Given the description of an element on the screen output the (x, y) to click on. 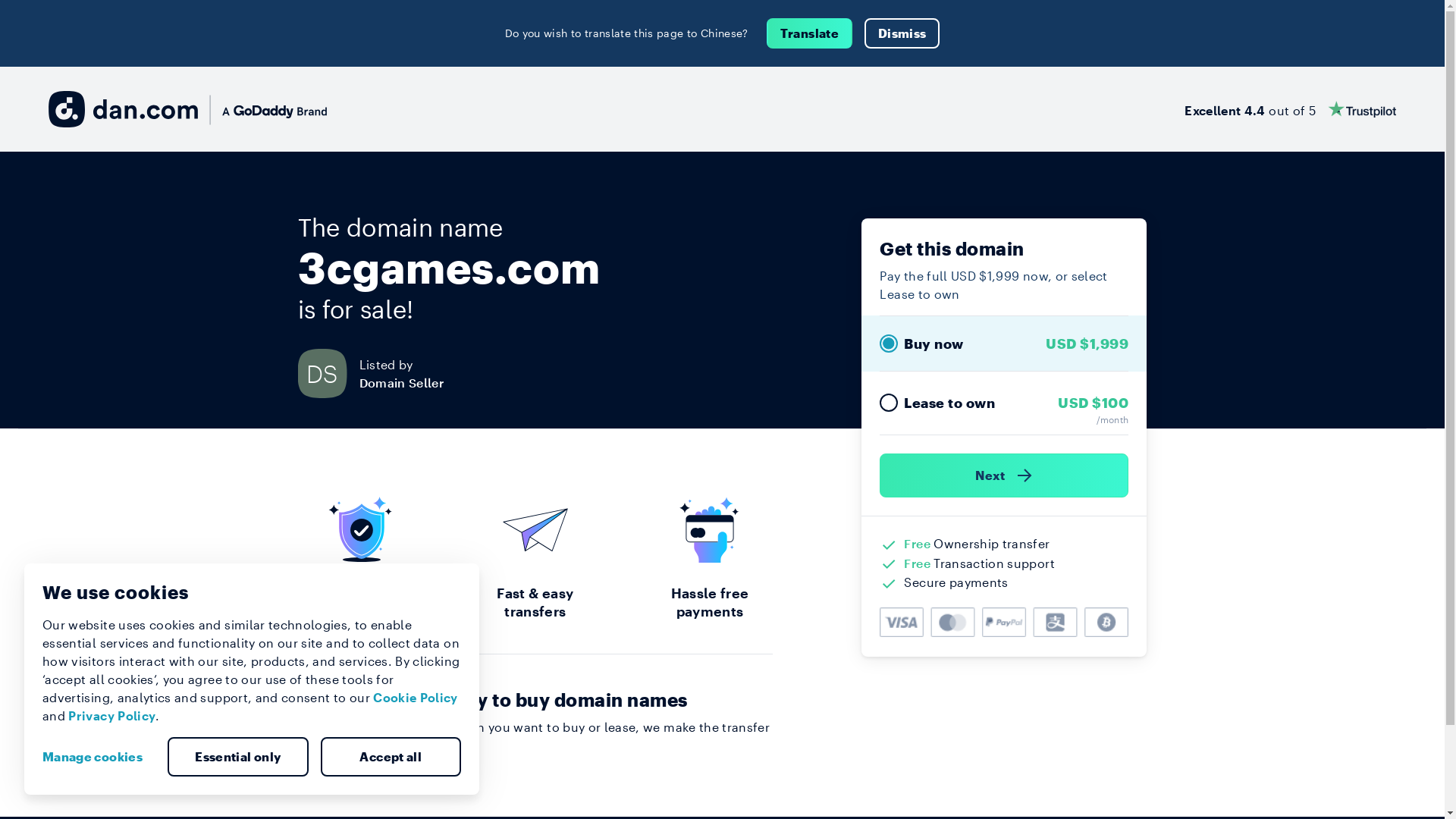
Essential only Element type: text (237, 756)
Next
) Element type: text (1003, 475)
Excellent 4.4 out of 5 Element type: text (1290, 109)
Dismiss Element type: text (901, 33)
Privacy Policy Element type: text (111, 715)
Cookie Policy Element type: text (415, 697)
Translate Element type: text (809, 33)
Manage cookies Element type: text (98, 756)
Accept all Element type: text (390, 756)
